Given the description of an element on the screen output the (x, y) to click on. 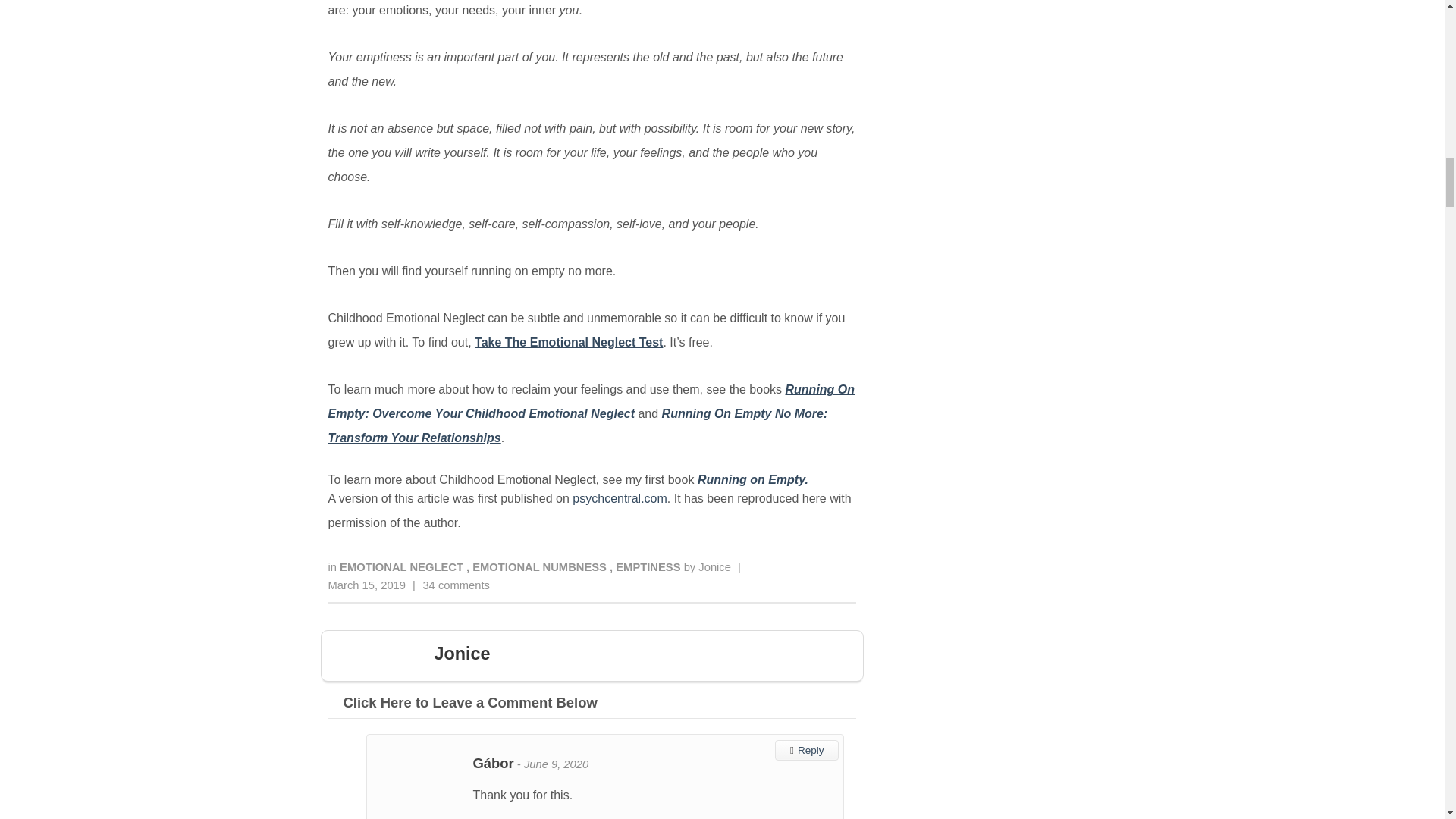
Running on Empty. (752, 479)
EMPTINESS (648, 567)
Running On Empty No More: Transform Your Relationships (577, 425)
Jonice (714, 567)
Take The Emotional Neglect Test (568, 341)
Running On Empty: Overcome Your Childhood Emotional Neglect (590, 401)
EMOTIONAL NEGLECT (402, 567)
EMOTIONAL NUMBNESS (540, 567)
34 comments (455, 585)
psychcentral.com (619, 498)
